Given the description of an element on the screen output the (x, y) to click on. 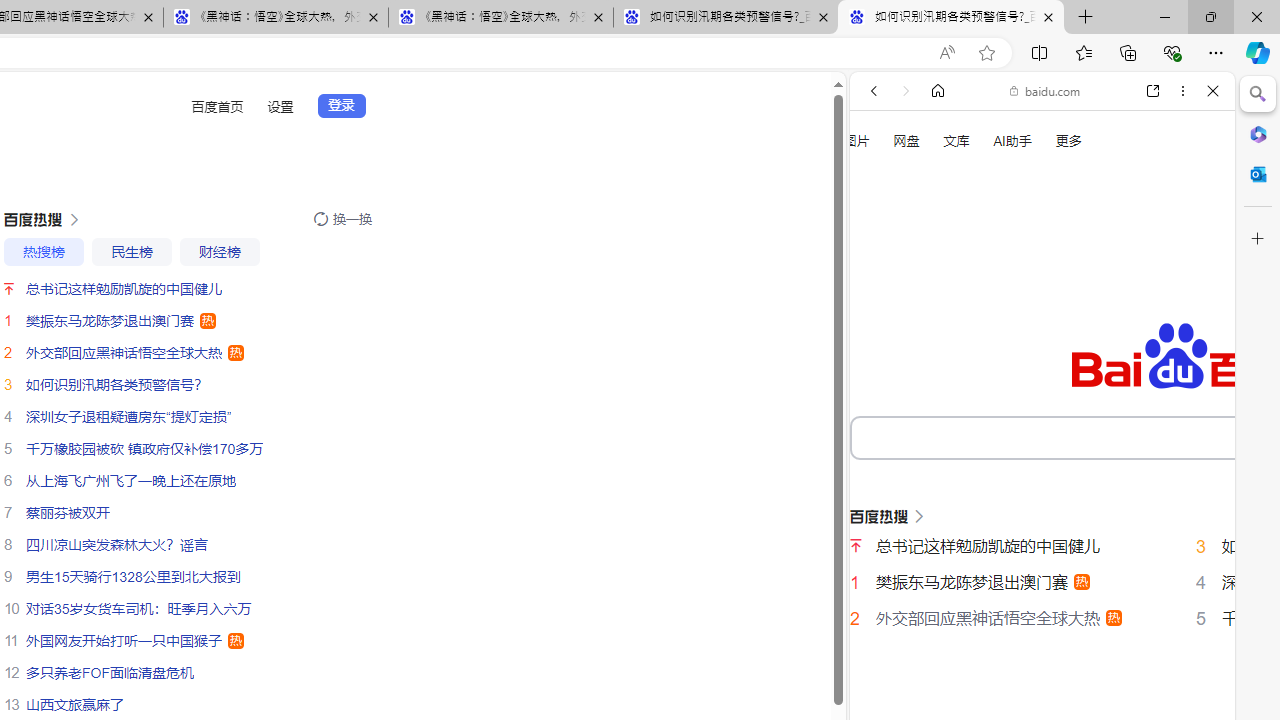
Search Filter, IMAGES (939, 339)
Search the web (1051, 137)
Web scope (882, 180)
English (Uk) (1042, 628)
Cambridge Dictionary (1034, 698)
OF | English meaning - Cambridge Dictionary (1034, 419)
